Given the description of an element on the screen output the (x, y) to click on. 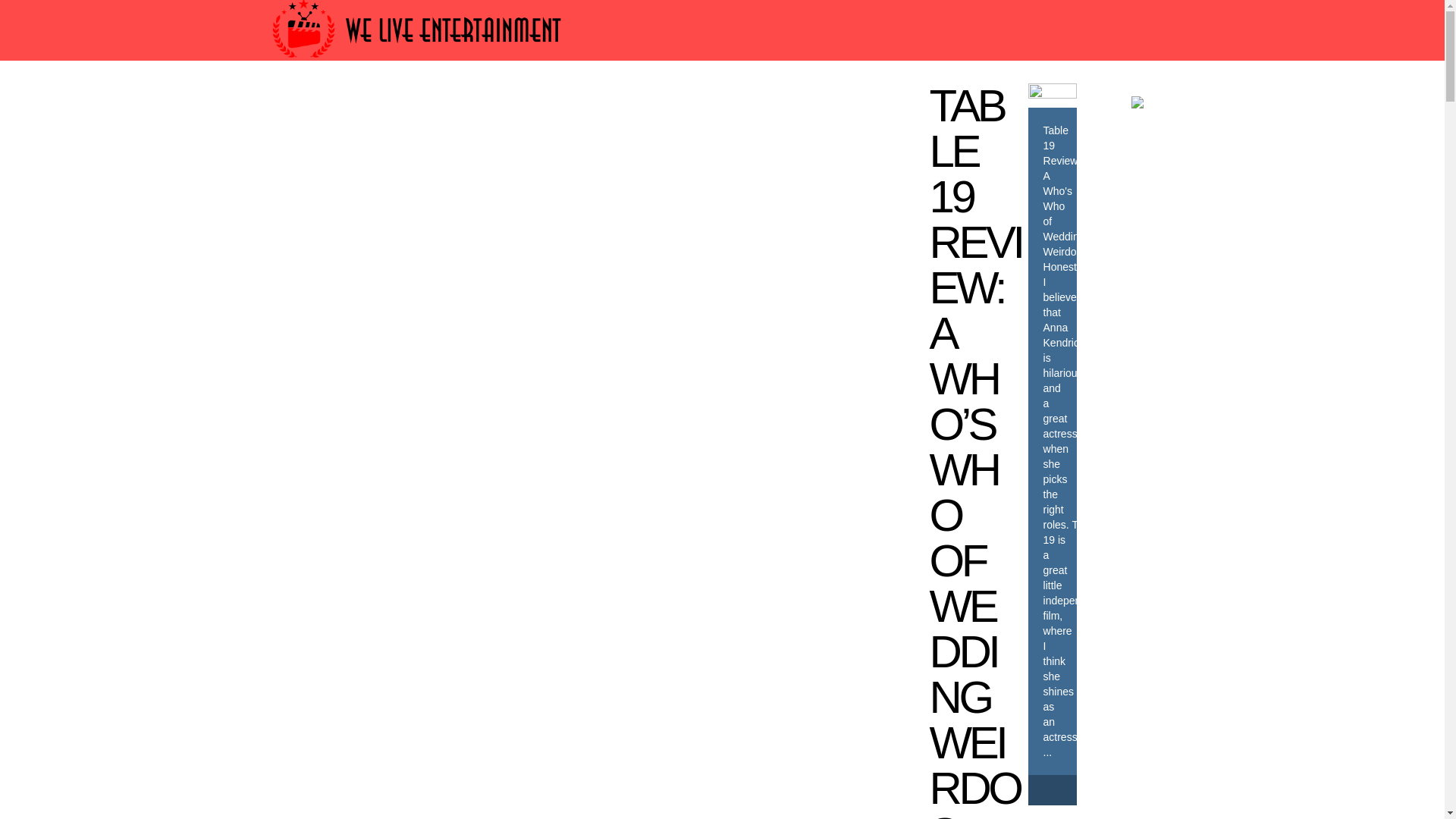
WE LIVE AWARDS (421, 103)
WE LIVE ENTERTAINMENT (841, 103)
HOME (325, 103)
WE LIVE FILM (542, 103)
We Live Entertainment (418, 63)
WE LIVE TV SHOWS (671, 103)
